Given the description of an element on the screen output the (x, y) to click on. 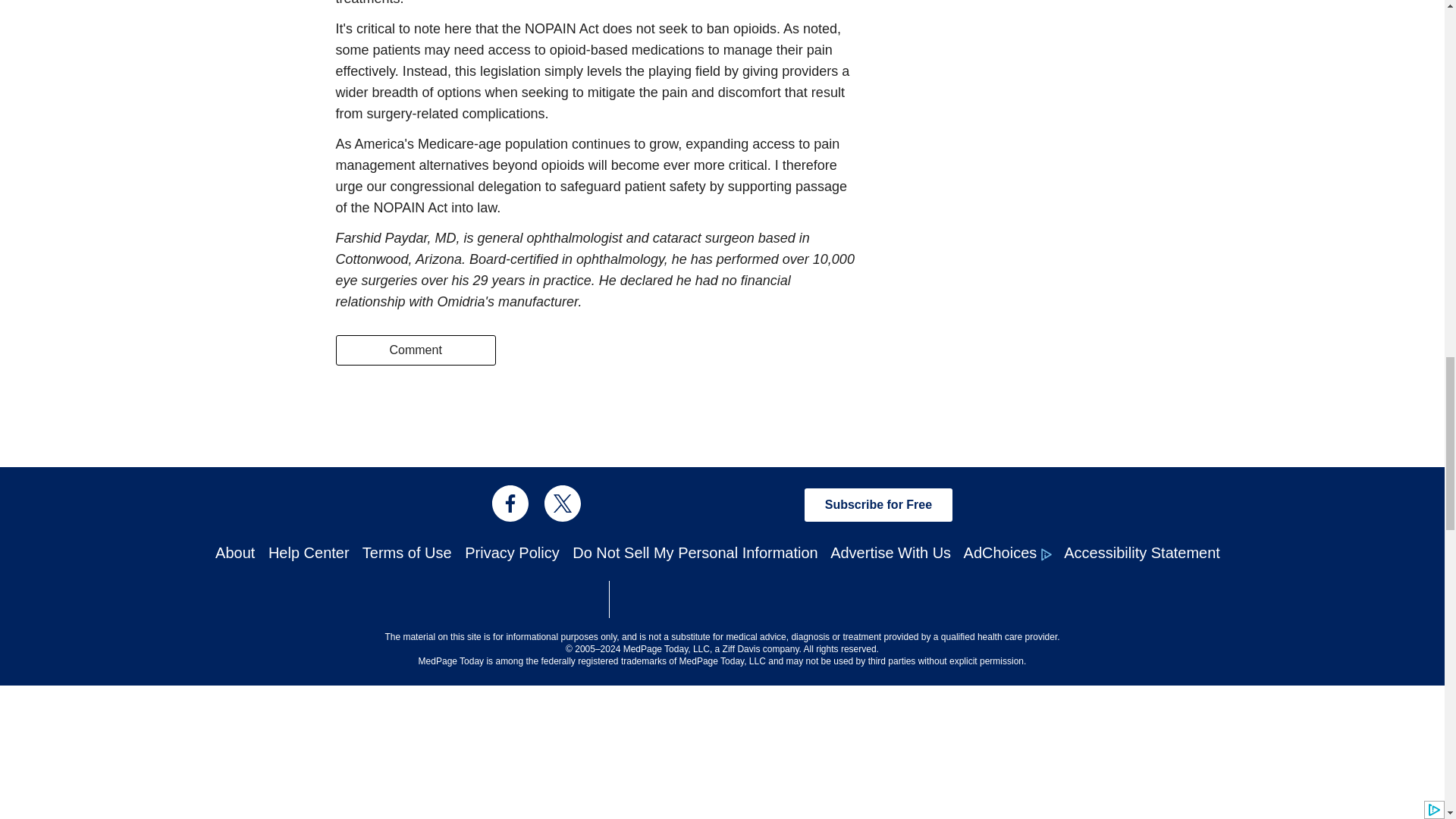
Visit us on X. Opens in a new tab or window (562, 503)
Visit us on Instagram. Opens in a new tab or window (614, 503)
Visit us on TikTok. Opens in a new tab or window (721, 503)
Visit us on YouTube. Opens in a new tab or window (773, 503)
Visit us on Facebook. Opens in a new tab or window (510, 503)
Visit us on LinkedIn. Opens in a new tab or window (668, 503)
